Given the description of an element on the screen output the (x, y) to click on. 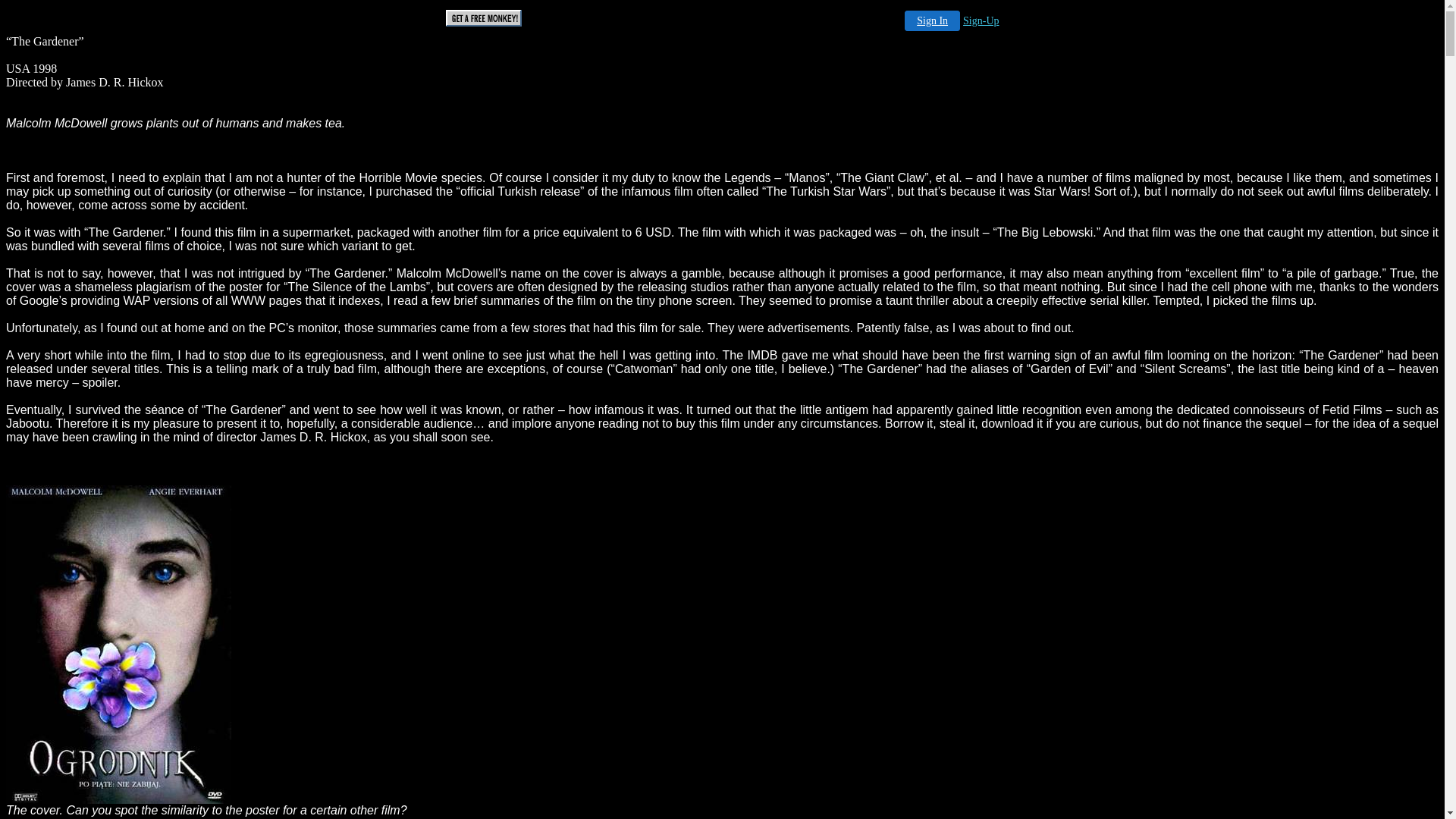
Sign-Up Element type: text (980, 20)
Sign In Element type: text (932, 20)
